Given the description of an element on the screen output the (x, y) to click on. 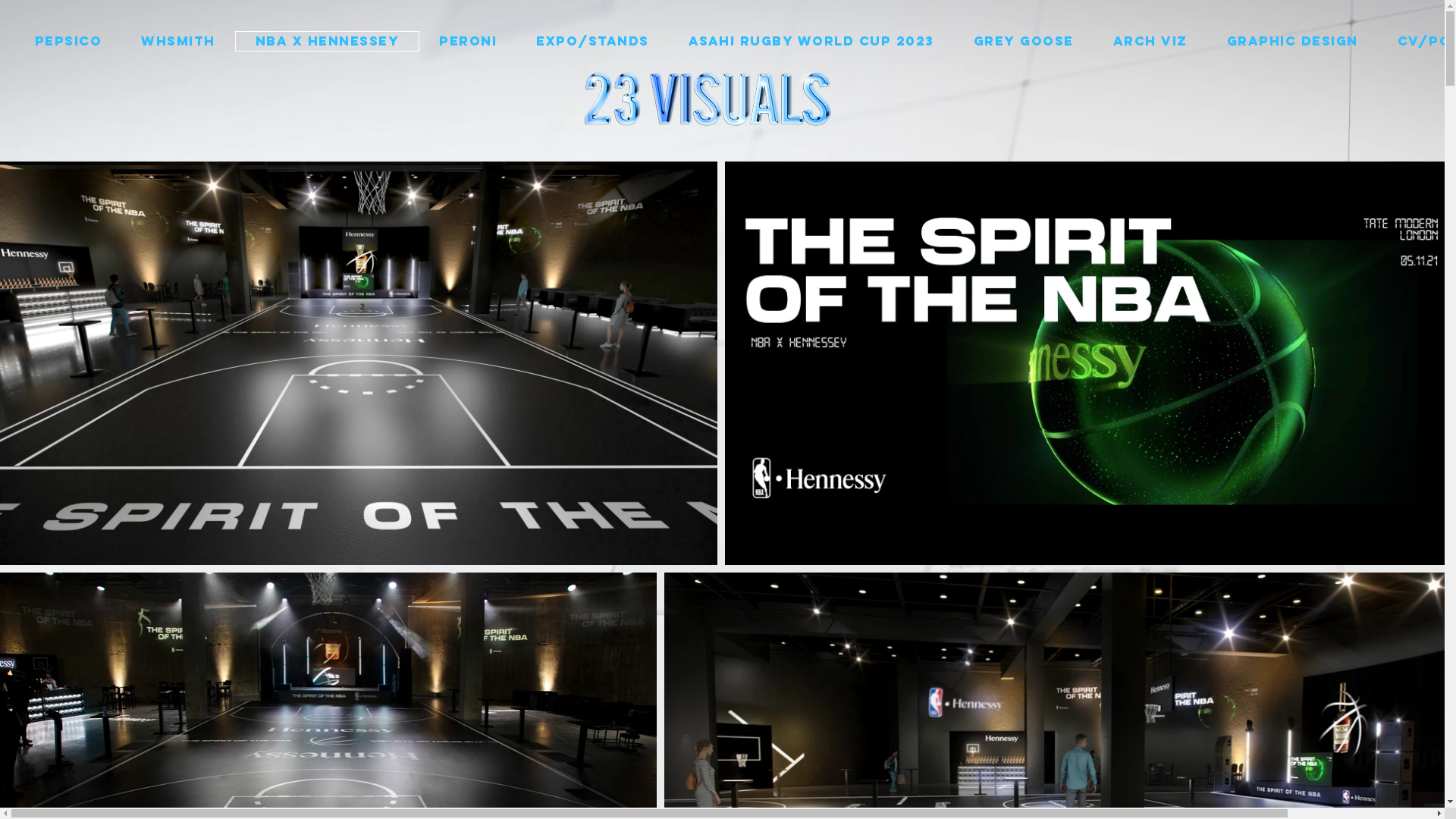
EXPO/STANDS Element type: text (592, 41)
PEPSICO Element type: text (68, 41)
GRAPHIC DESIGN Element type: text (1292, 41)
NBA x Hennessey Element type: text (327, 41)
GREY GOOSE Element type: text (1023, 41)
ARCH VIZ Element type: text (1150, 41)
PERONI Element type: text (467, 41)
WHSMITH Element type: text (178, 41)
ASAHI RUGBY WORLD CUP 2023 Element type: text (810, 41)
